Given the description of an element on the screen output the (x, y) to click on. 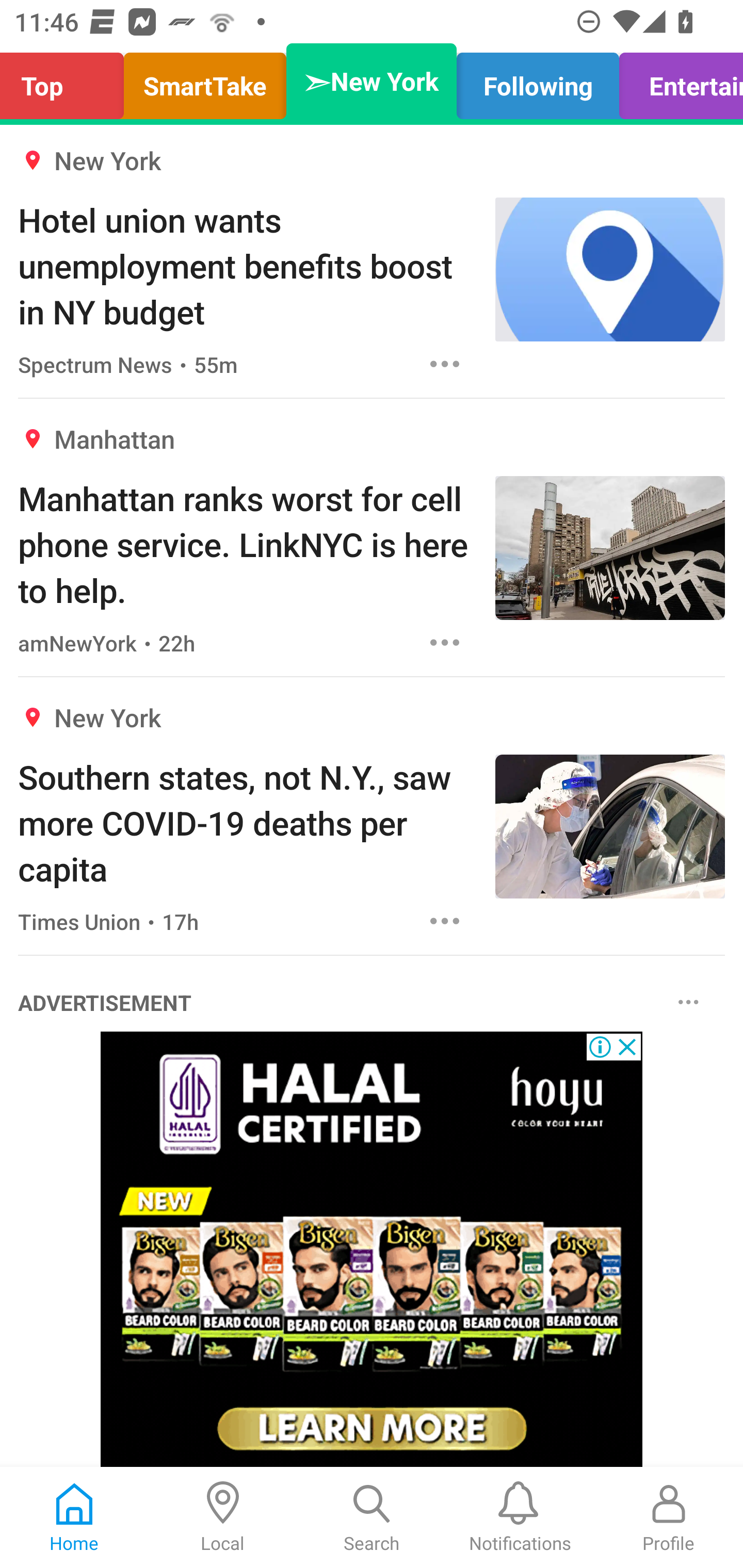
Top (67, 81)
SmartTake (204, 81)
➣New York (371, 81)
Following (537, 81)
Options (444, 363)
Options (444, 642)
Options (444, 921)
Options (688, 1002)
28 (371, 1249)
Local (222, 1517)
Search (371, 1517)
Notifications (519, 1517)
Profile (668, 1517)
